Given the description of an element on the screen output the (x, y) to click on. 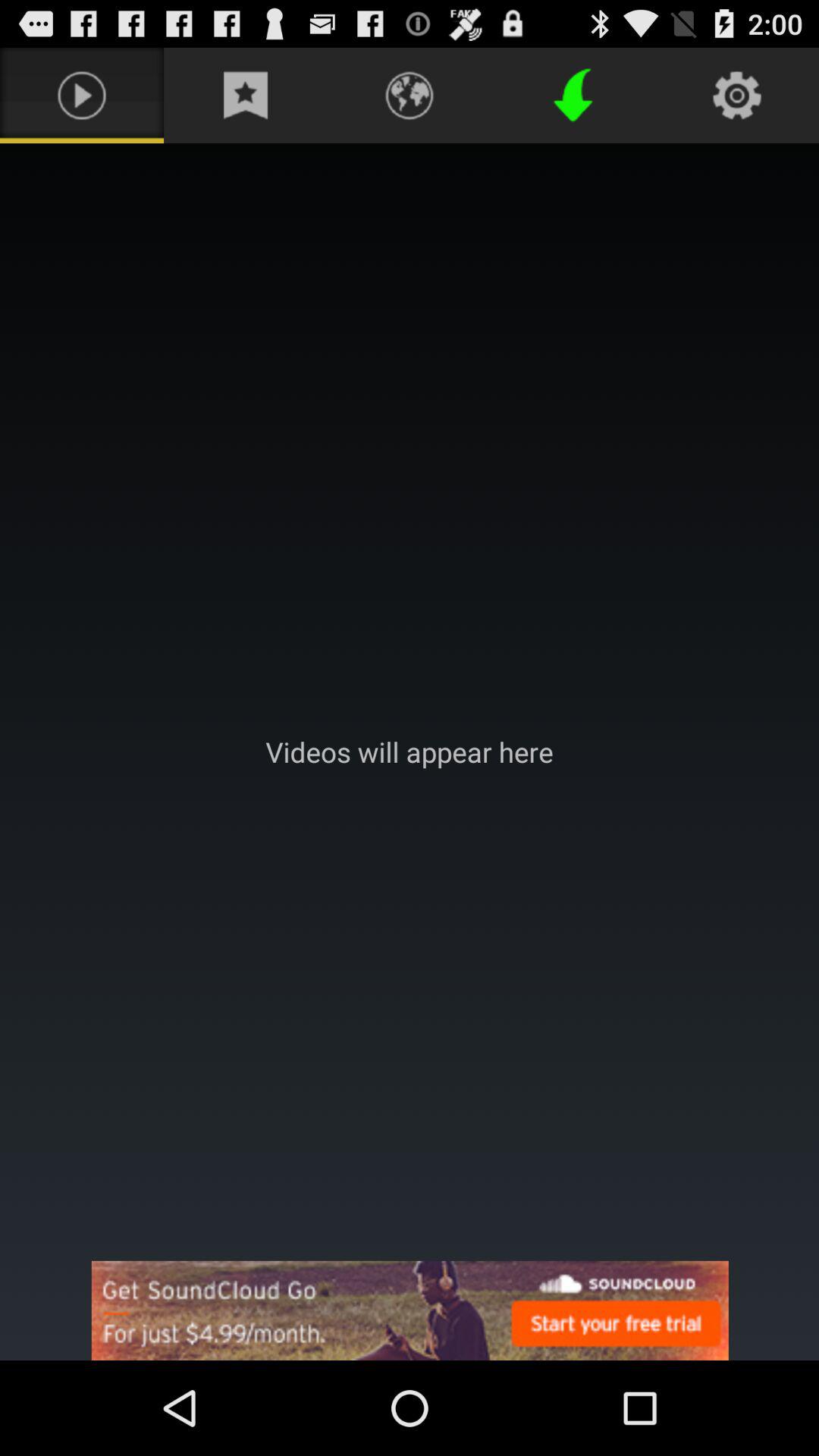
open the icon at the bottom (409, 1310)
